Given the description of an element on the screen output the (x, y) to click on. 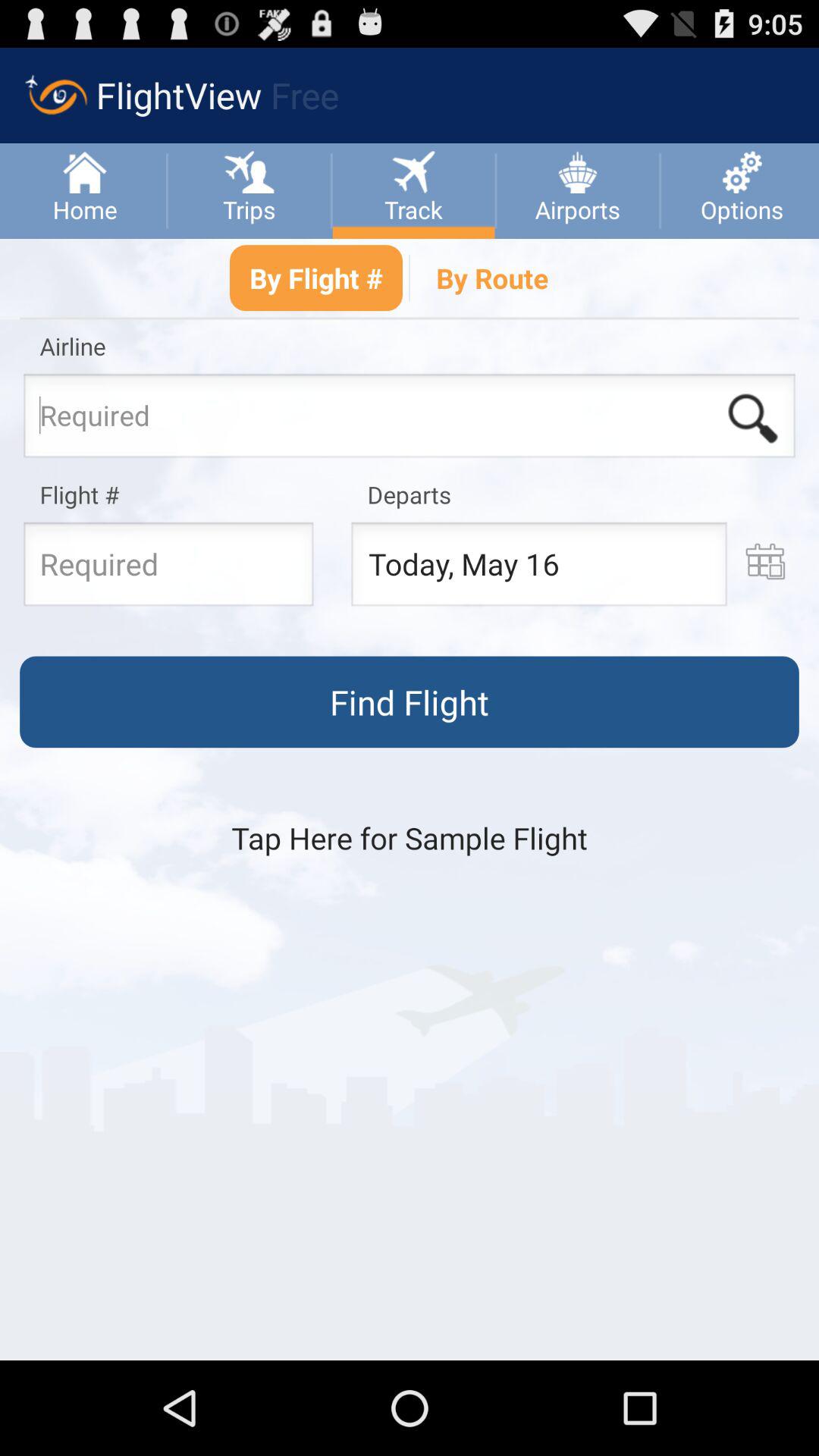
to research (409, 420)
